Given the description of an element on the screen output the (x, y) to click on. 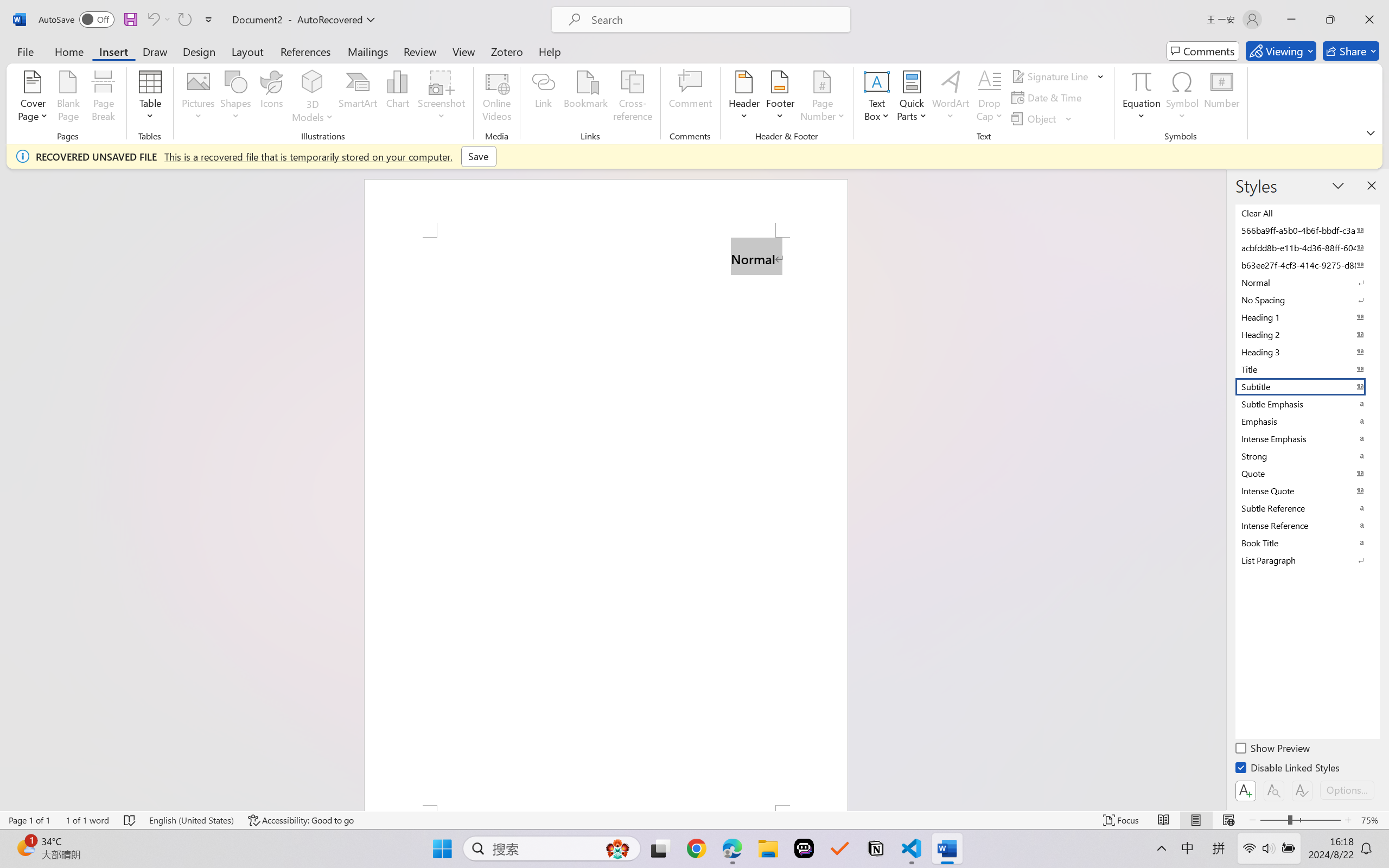
Link (543, 97)
Intense Reference (1306, 525)
Class: MsoCommandBar (694, 819)
Icons (271, 97)
